Given the description of an element on the screen output the (x, y) to click on. 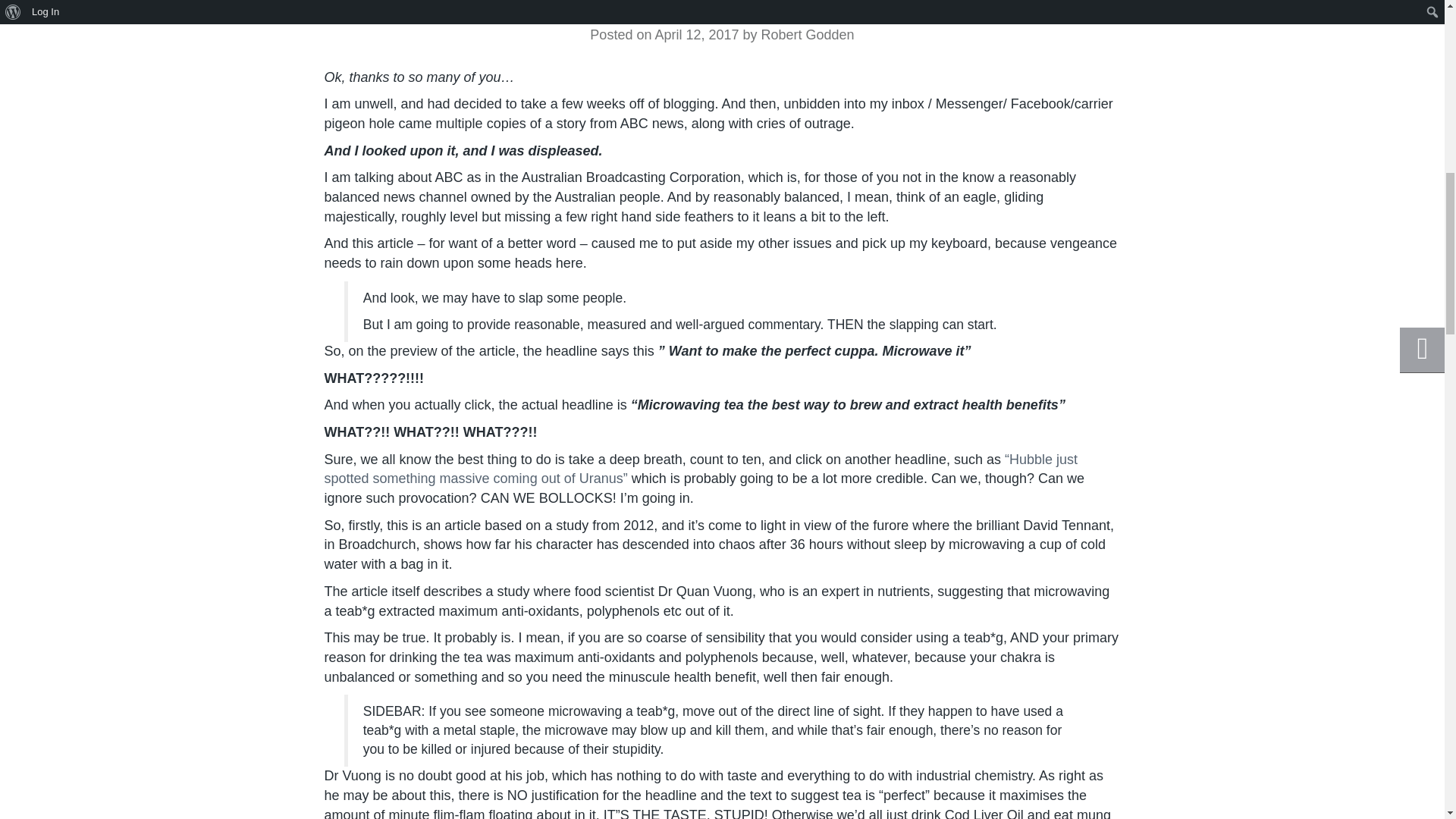
April 12, 2017 (695, 34)
Robert Godden (807, 34)
